Given the description of an element on the screen output the (x, y) to click on. 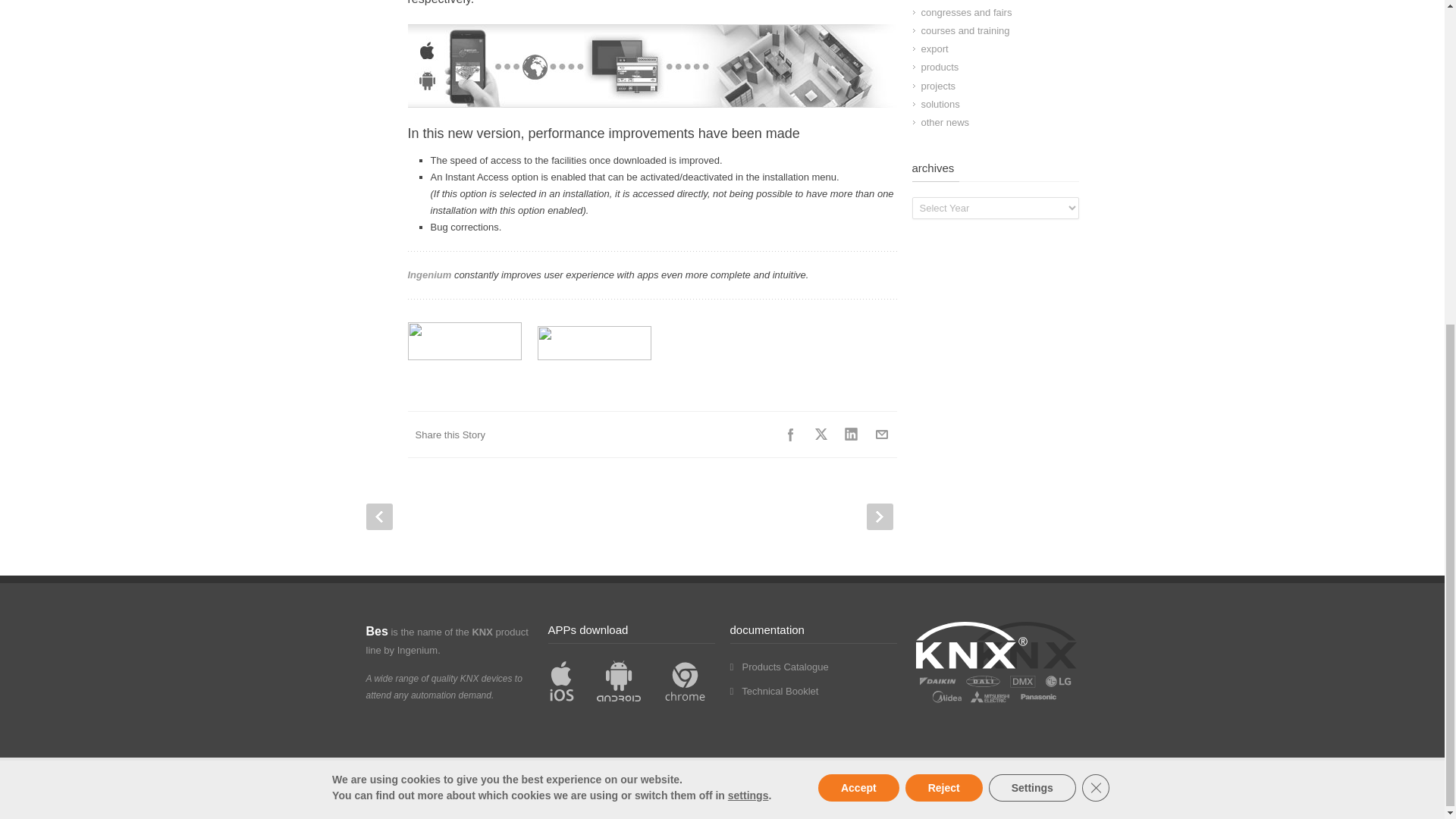
LinkedIn (850, 434)
Ingenium (429, 274)
Twitter (820, 434)
Prev Post (378, 516)
Next Post (879, 516)
Facebook (789, 434)
